Given the description of an element on the screen output the (x, y) to click on. 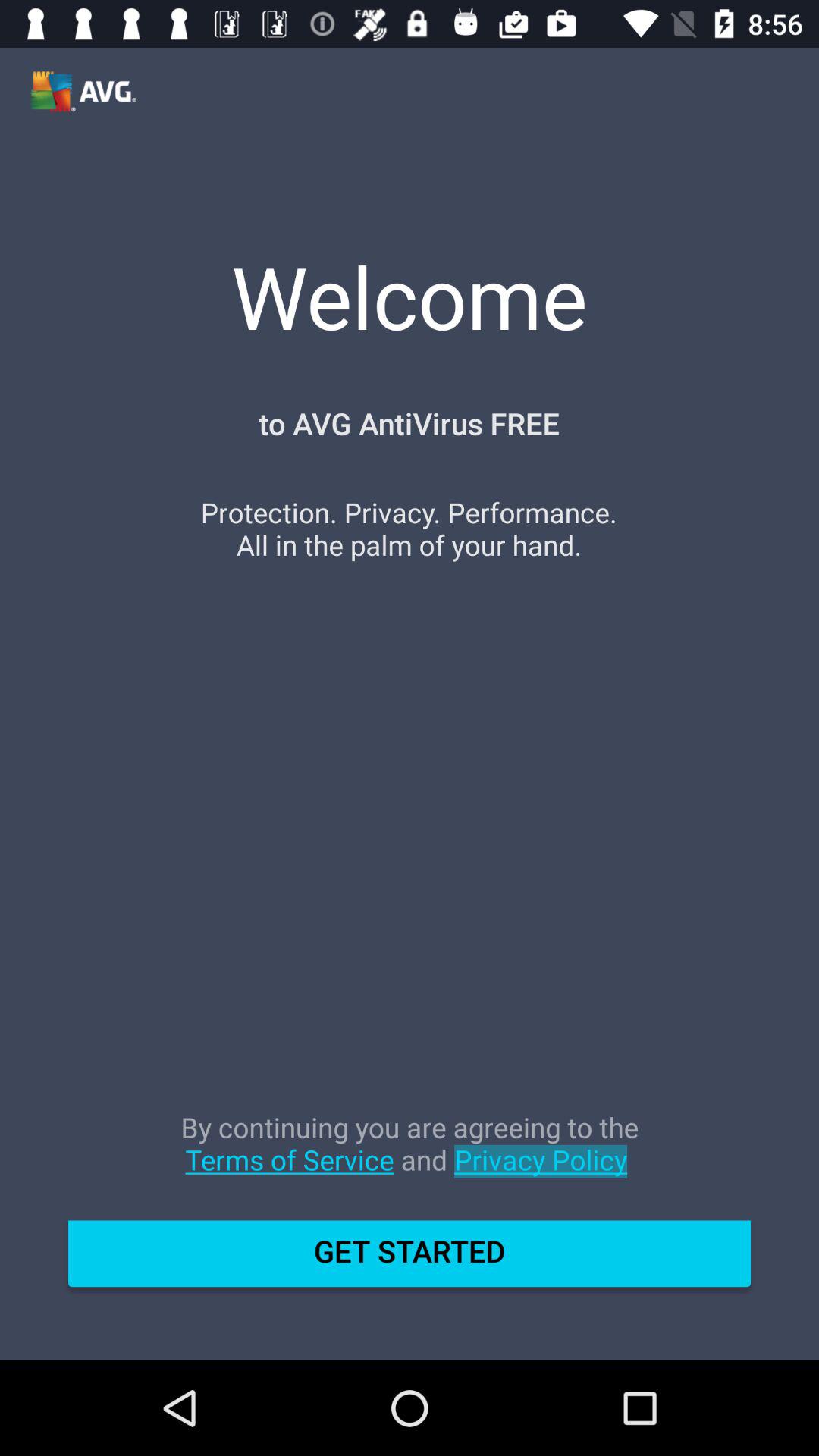
turn on the icon above the get started icon (409, 1159)
